Given the description of an element on the screen output the (x, y) to click on. 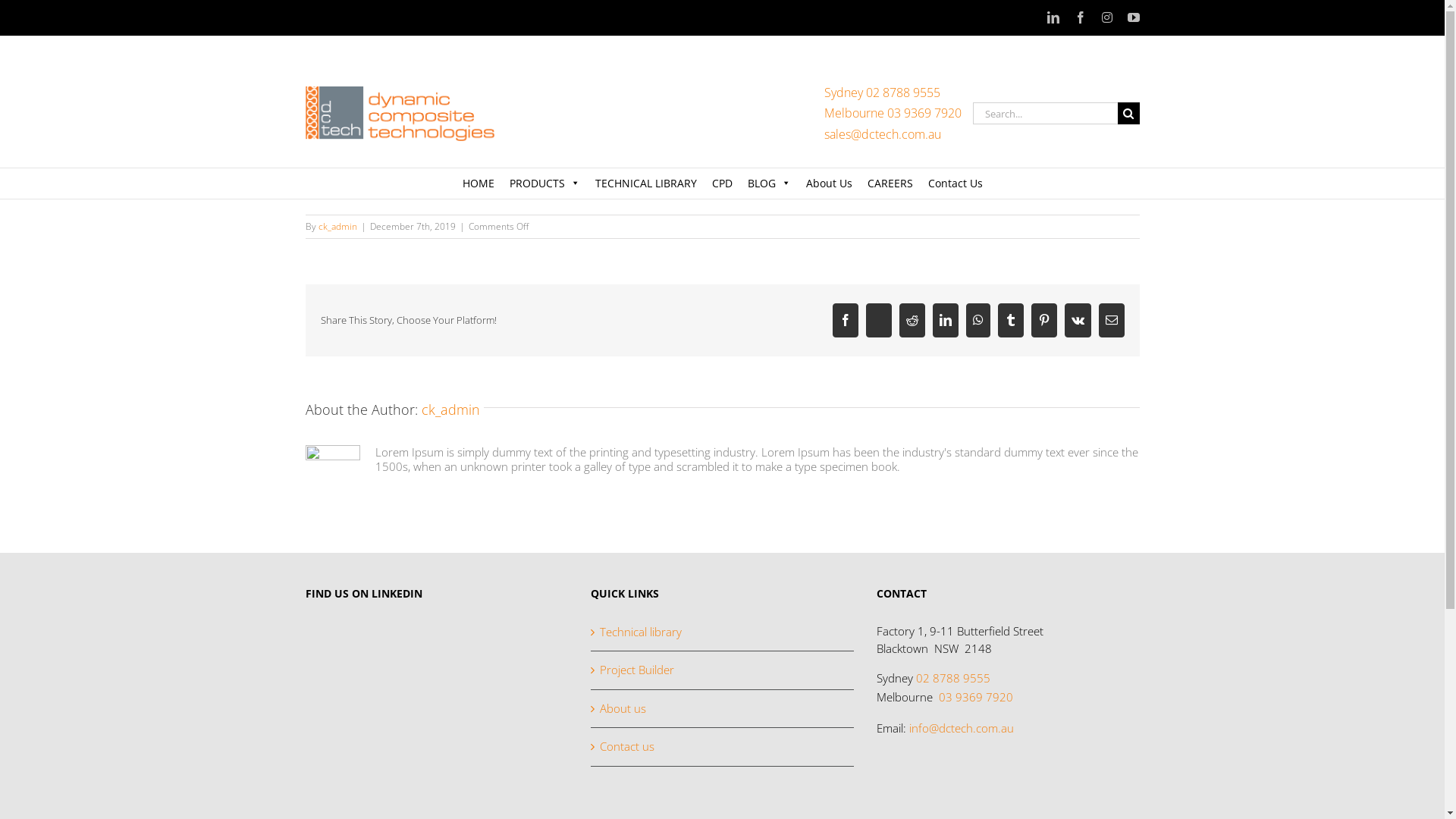
CAREERS Element type: text (889, 183)
Sydney 02 8788 9555 Element type: text (881, 92)
Project Builder Element type: text (722, 669)
Contact us Element type: text (722, 746)
WhatsApp Element type: text (978, 320)
LinkedIn Element type: text (1052, 17)
Vk Element type: text (1077, 320)
Melbourne 03 9369 7920 Element type: text (891, 112)
02 8788 9555 Element type: text (953, 677)
Tumblr Element type: text (1010, 320)
YouTube Element type: text (1132, 17)
Email Element type: text (1110, 320)
Facebook Element type: text (845, 320)
LinkedIn Element type: text (945, 320)
info@dctech.com.au Element type: text (961, 727)
BLOG Element type: text (769, 183)
Contact Us Element type: text (955, 183)
ck_admin Element type: text (450, 409)
About us Element type: text (722, 708)
HOME Element type: text (478, 183)
PRODUCTS Element type: text (544, 183)
Facebook Element type: text (1079, 17)
03 9369 7920 Element type: text (975, 696)
Twitter Element type: text (878, 320)
CPD Element type: text (721, 183)
Technical library Element type: text (722, 632)
Reddit Element type: text (912, 320)
Instagram Element type: text (1106, 17)
About Us Element type: text (828, 183)
sales@dctech.com.au Element type: text (881, 133)
TECHNICAL LIBRARY Element type: text (644, 183)
Pinterest Element type: text (1044, 320)
ck_admin Element type: text (337, 225)
